Given the description of an element on the screen output the (x, y) to click on. 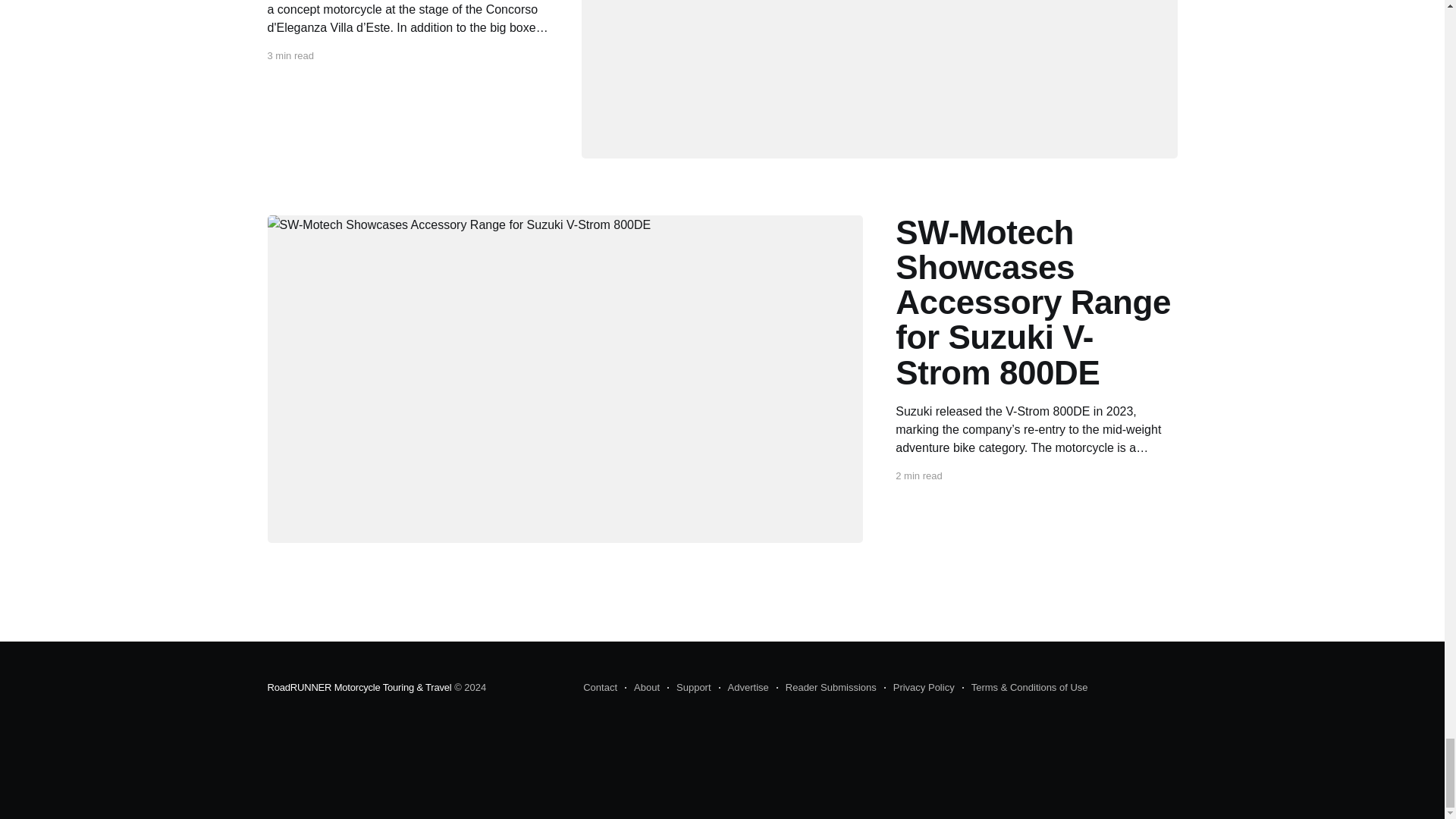
Advertise (743, 686)
About (641, 686)
Support (688, 686)
Privacy Policy (919, 686)
Reader Submissions (826, 686)
Contact (600, 686)
